Given the description of an element on the screen output the (x, y) to click on. 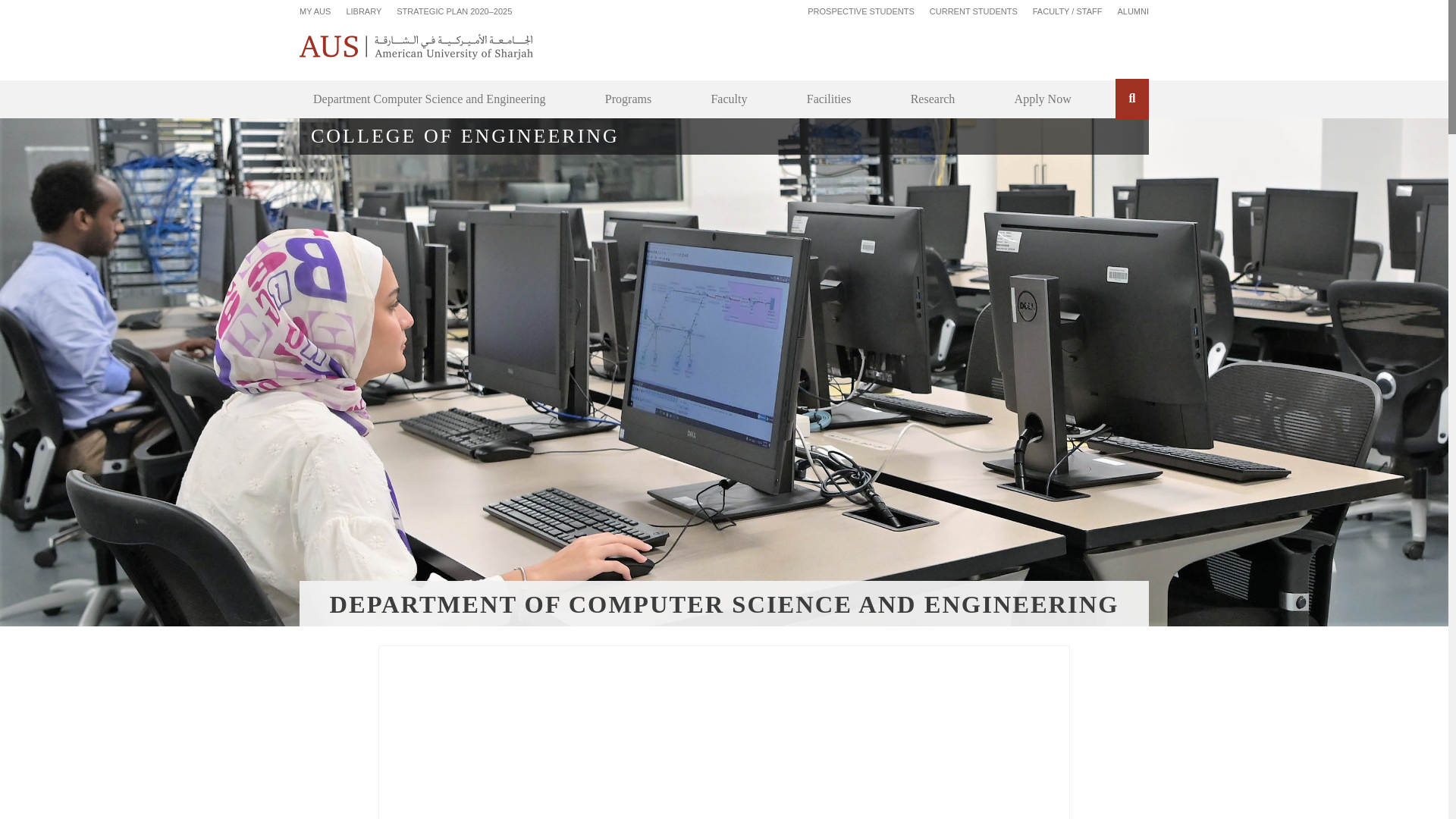
Research (932, 98)
MY AUS (314, 10)
Apply Now (1042, 98)
Home (416, 46)
PROSPECTIVE STUDENTS (861, 10)
CURRENT STUDENTS (973, 10)
ALUMNI (1132, 10)
Programs (628, 98)
COLLEGE OF ENGINEERING (724, 136)
Faculty (728, 98)
